Given the description of an element on the screen output the (x, y) to click on. 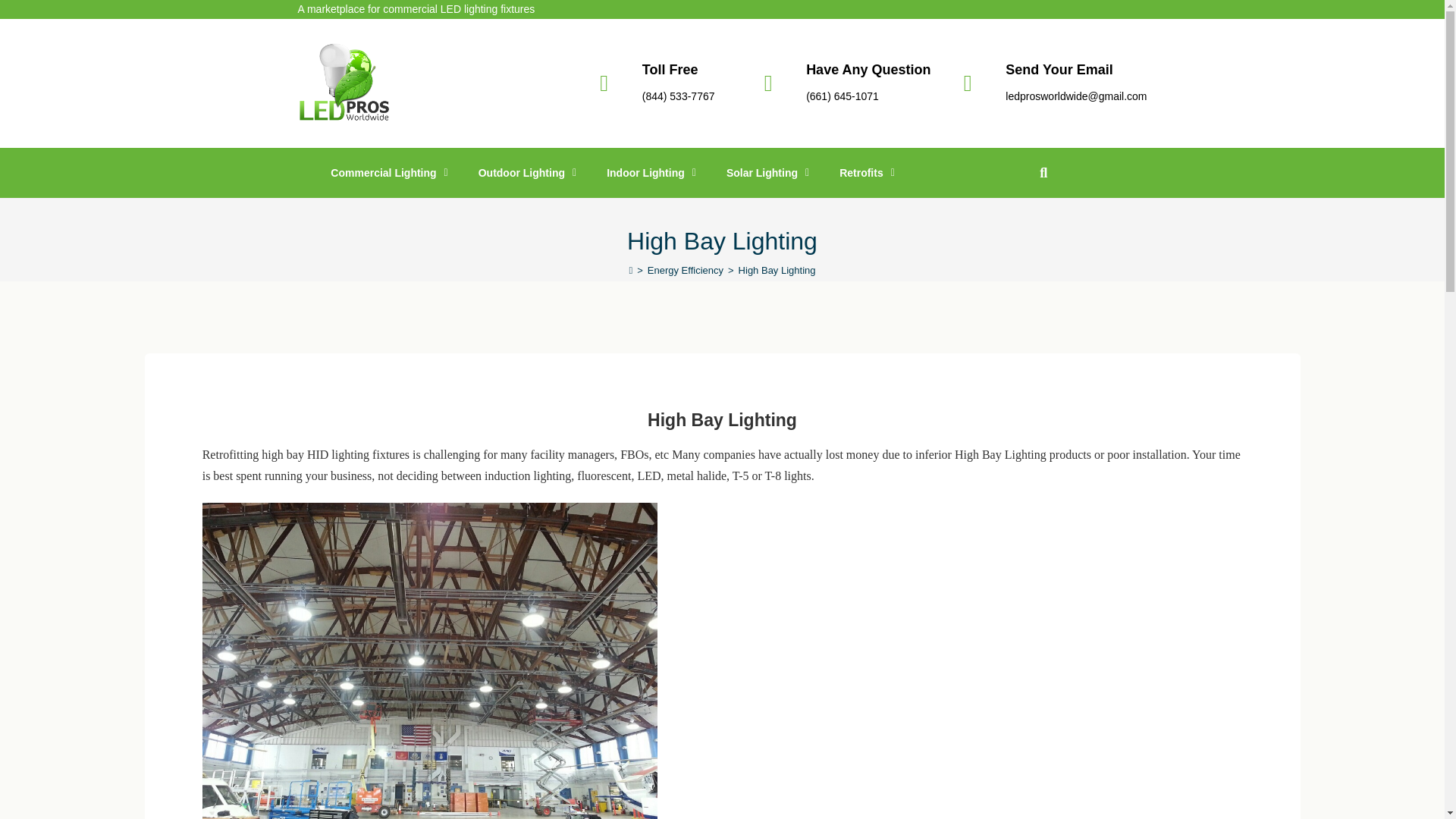
Toll Free (670, 69)
Retrofits (867, 172)
Commercial Lighting (389, 172)
Send Your Email (1059, 69)
Solar Lighting (767, 172)
Have Any Question (868, 69)
Outdoor Lighting (527, 172)
Indoor Lighting (651, 172)
